Given the description of an element on the screen output the (x, y) to click on. 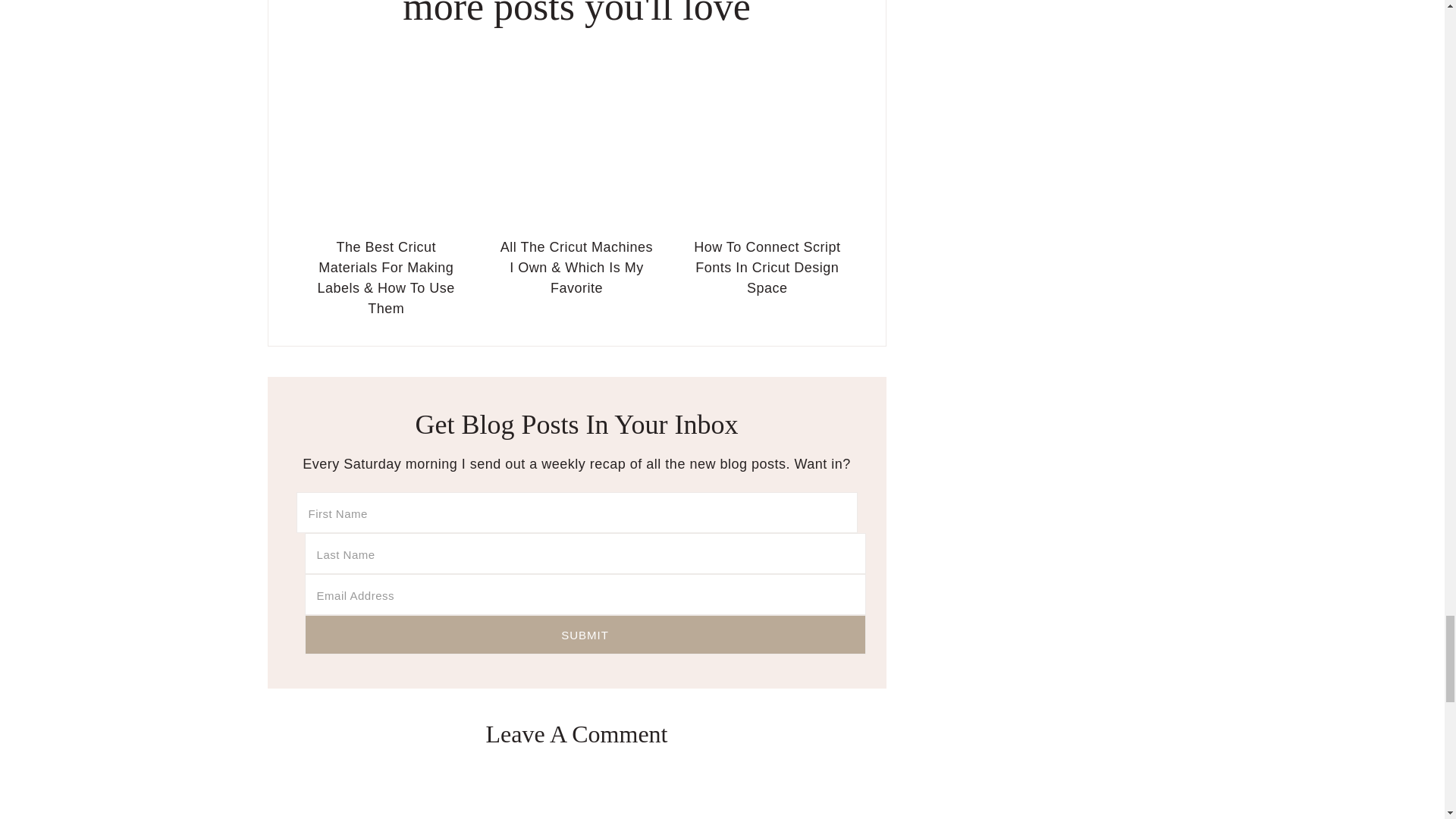
Submit (585, 634)
Comment Form (575, 794)
